Given the description of an element on the screen output the (x, y) to click on. 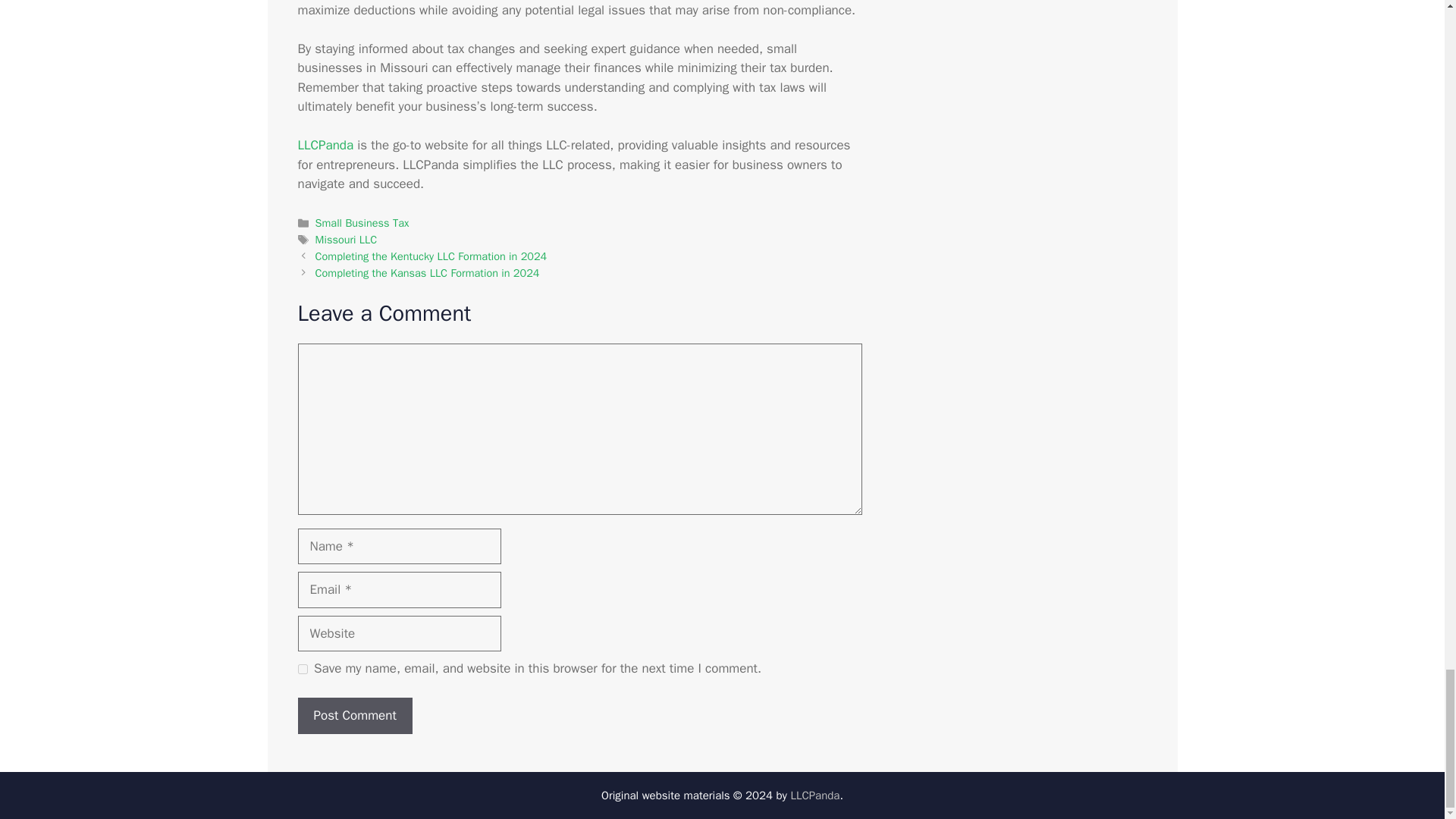
yes (302, 669)
LLCPanda (325, 145)
Completing the Kansas LLC Formation in 2024 (427, 272)
Completing the Kentucky LLC Formation in 2024 (431, 255)
Missouri LLC (346, 239)
LLCPanda (325, 145)
Small Business Tax (362, 223)
Post Comment (354, 715)
